Given the description of an element on the screen output the (x, y) to click on. 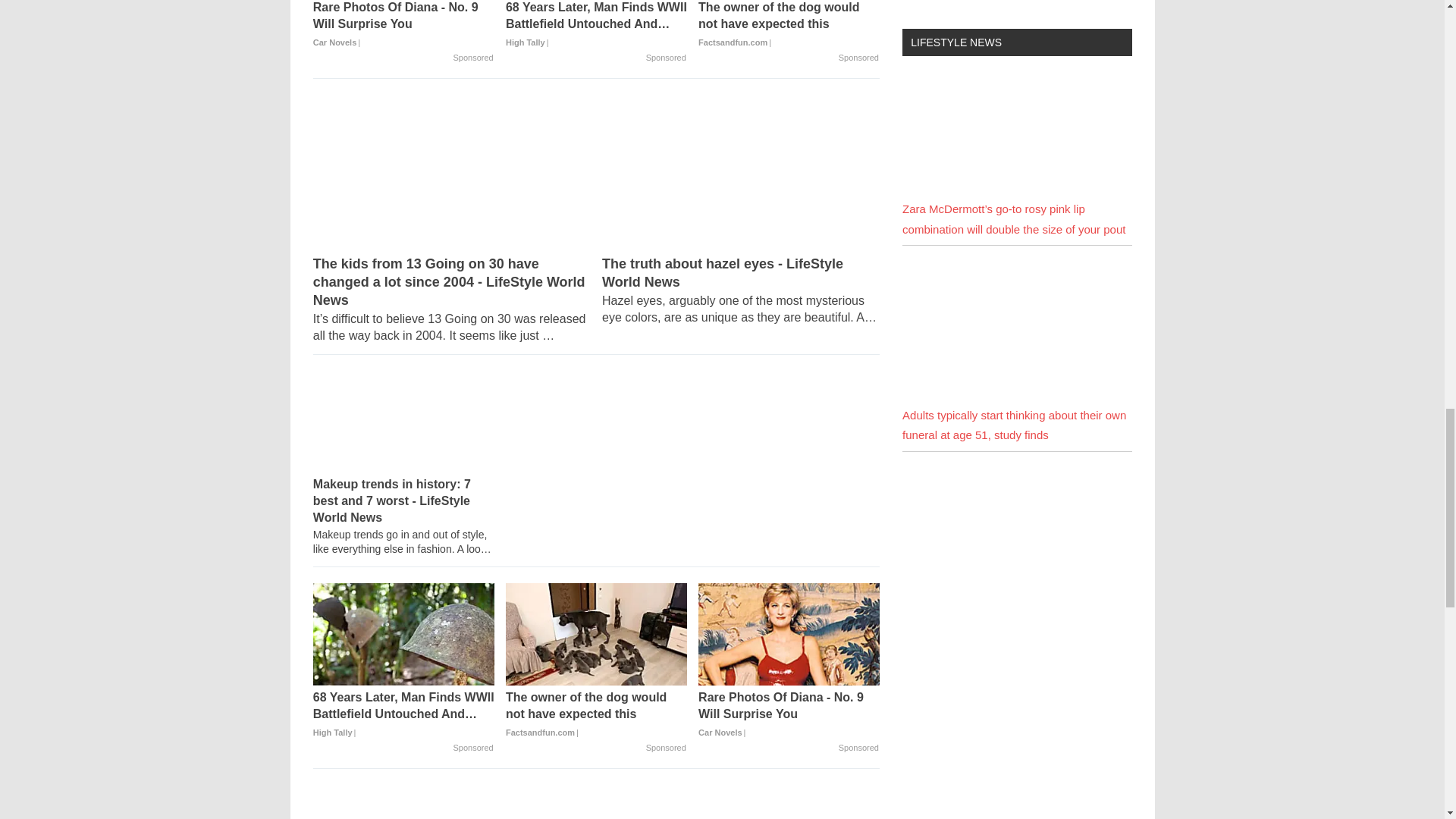
Sponsored (472, 58)
Sponsored (665, 58)
The owner of the dog would not have expected this (788, 25)
Sponsored (858, 58)
Rare Photos Of Diana - No. 9 Will Surprise You (404, 25)
